Given the description of an element on the screen output the (x, y) to click on. 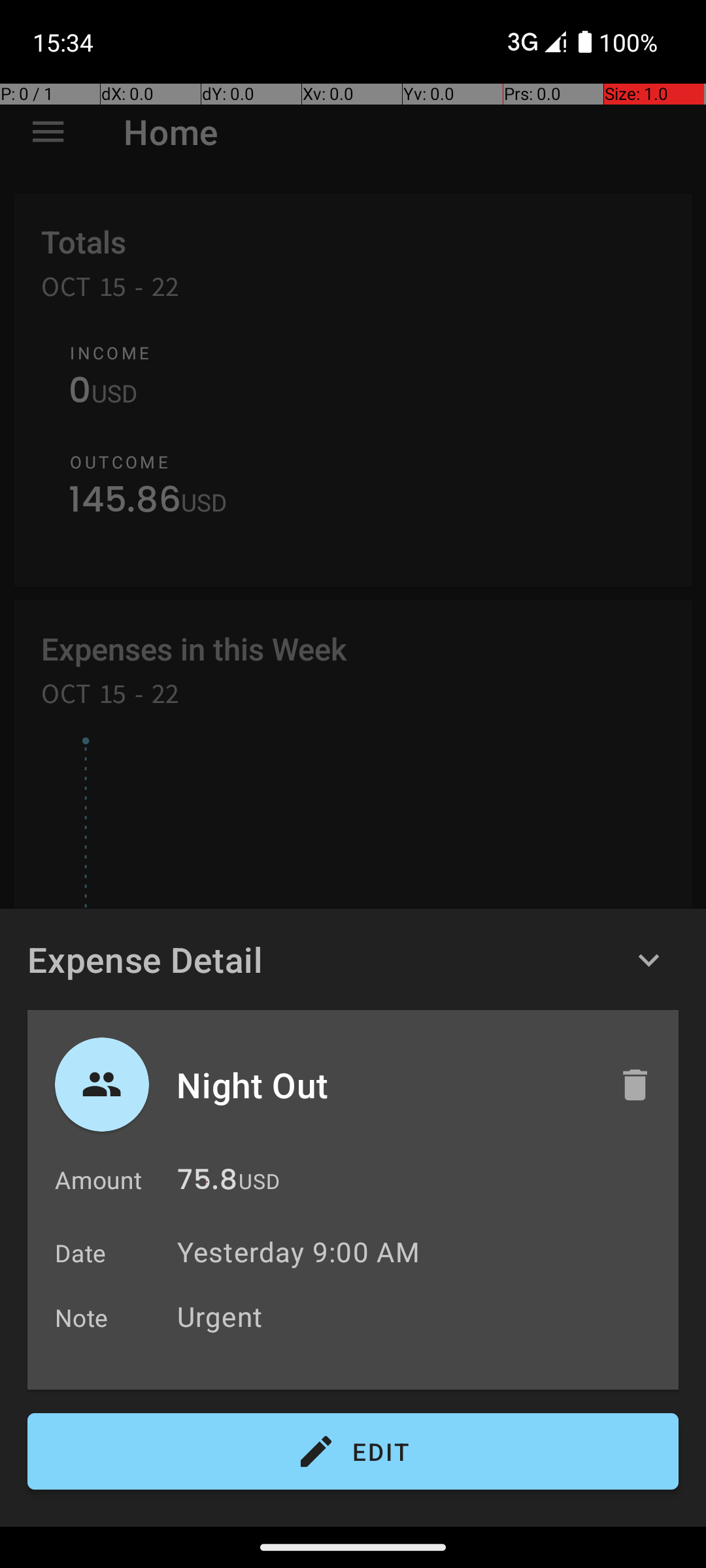
Expense Detail Element type: android.widget.TextView (145, 959)
Night Out Element type: android.widget.TextView (383, 1084)
Amount Element type: android.widget.TextView (97, 1179)
75.8 Element type: android.widget.TextView (206, 1182)
USD Element type: android.widget.TextView (258, 1180)
Date Element type: android.widget.TextView (80, 1252)
Yesterday 9:00 AM Element type: android.widget.TextView (298, 1251)
Note Element type: android.widget.TextView (81, 1317)
Urgent Element type: android.widget.TextView (420, 1315)
EDIT Element type: android.widget.Button (352, 1451)
